Given the description of an element on the screen output the (x, y) to click on. 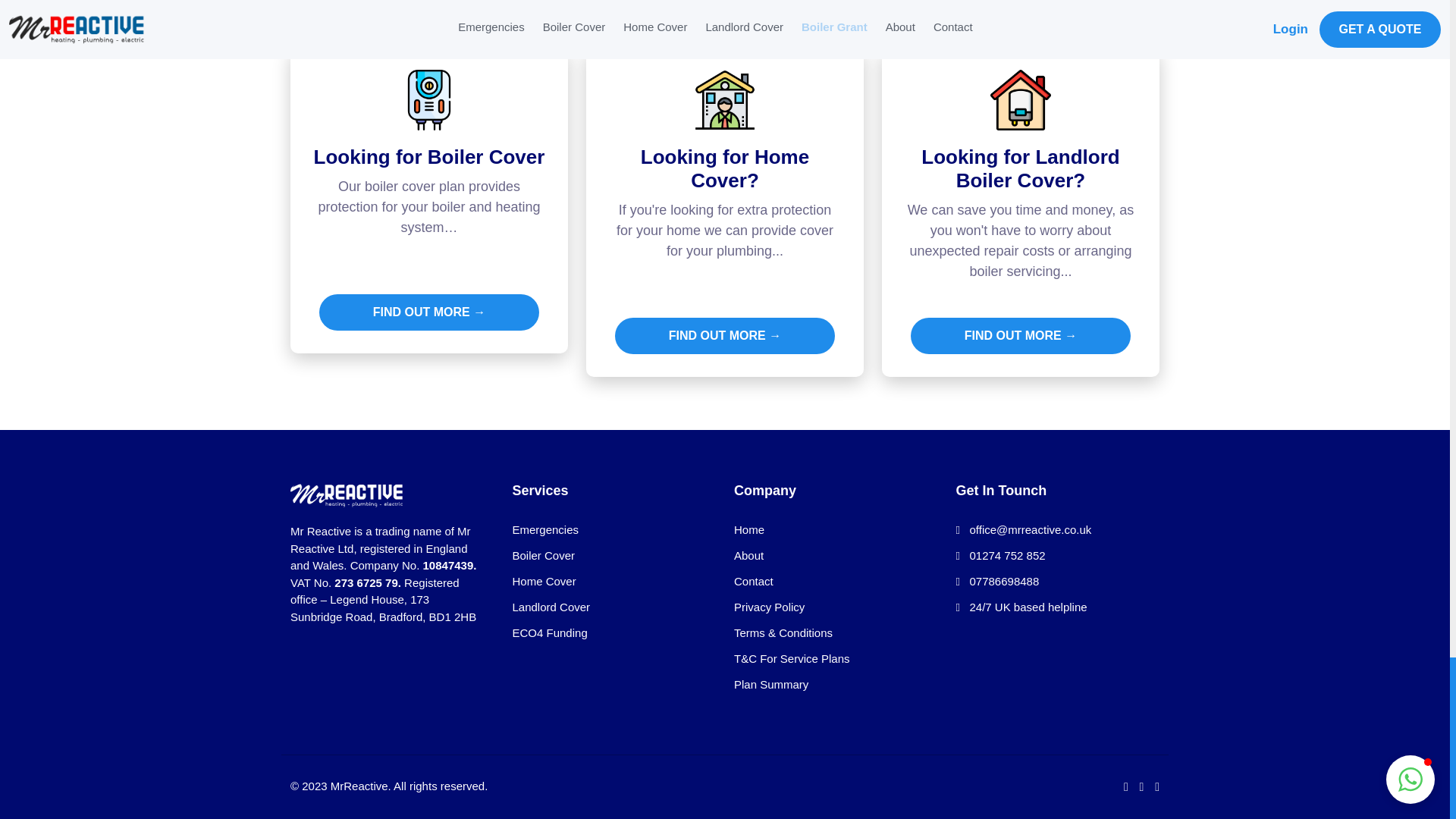
Home (748, 529)
Landlord Cover (551, 606)
About (747, 554)
Boiler Cover (543, 554)
Contact (753, 581)
Privacy Policy (769, 606)
ECO4 Funding (550, 632)
Home Cover (544, 581)
Emergencies (545, 529)
